Given the description of an element on the screen output the (x, y) to click on. 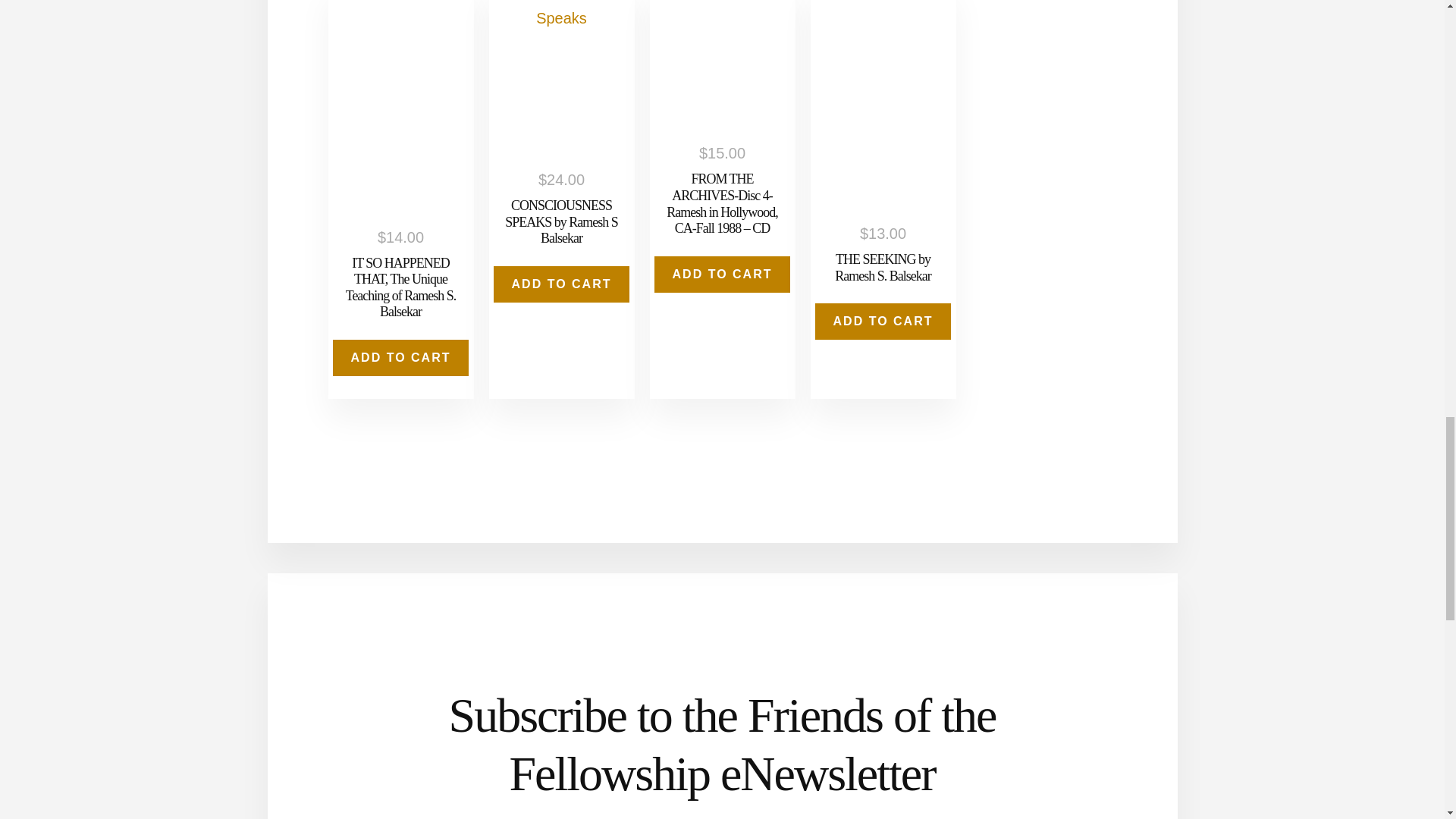
ADD TO CART (561, 284)
ADD TO CART (721, 274)
ADD TO CART (400, 357)
